Given the description of an element on the screen output the (x, y) to click on. 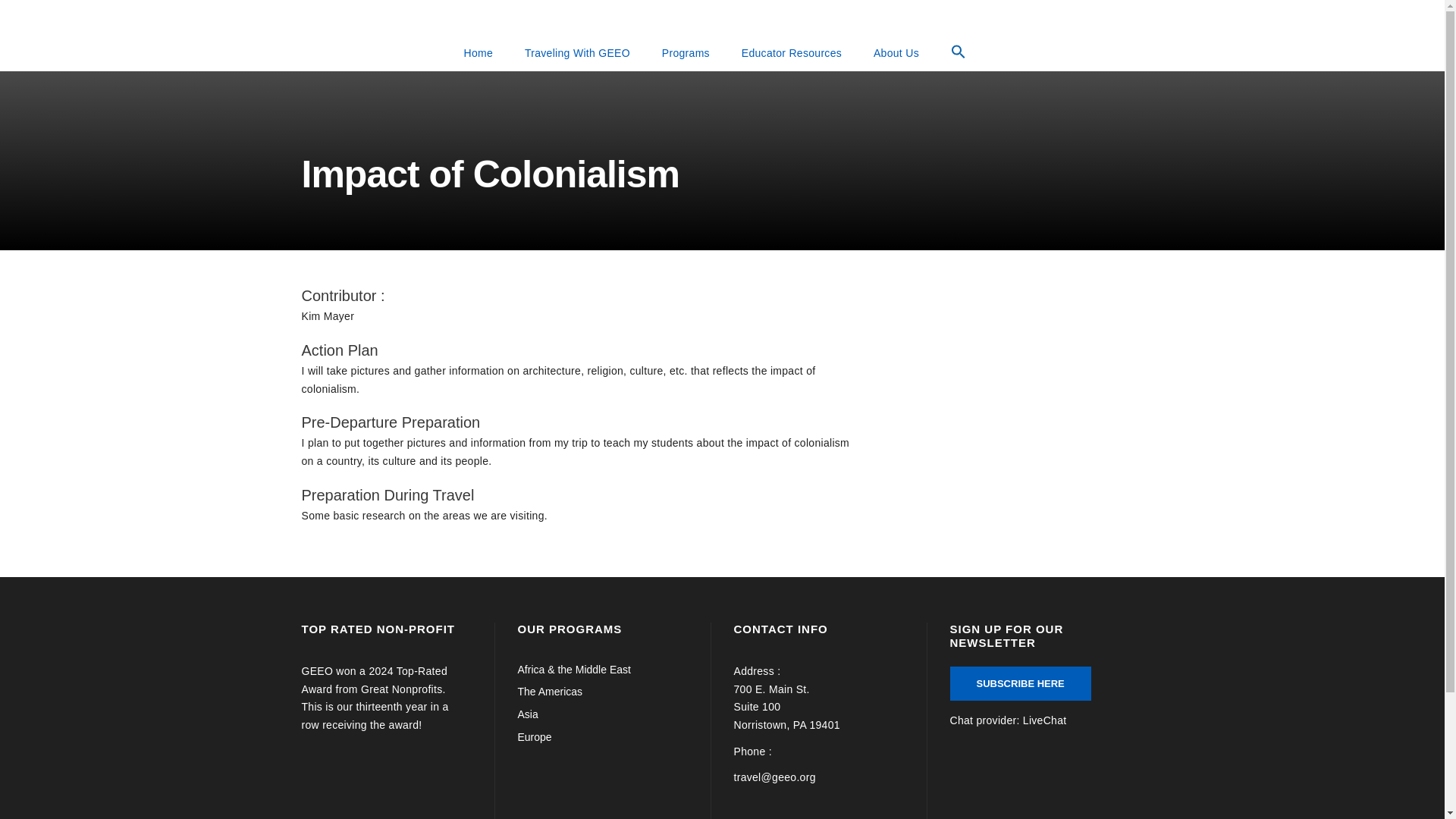
Programs (685, 52)
Home (478, 52)
About Us (896, 52)
Traveling With GEEO (577, 52)
Educator Resources (791, 52)
